Given the description of an element on the screen output the (x, y) to click on. 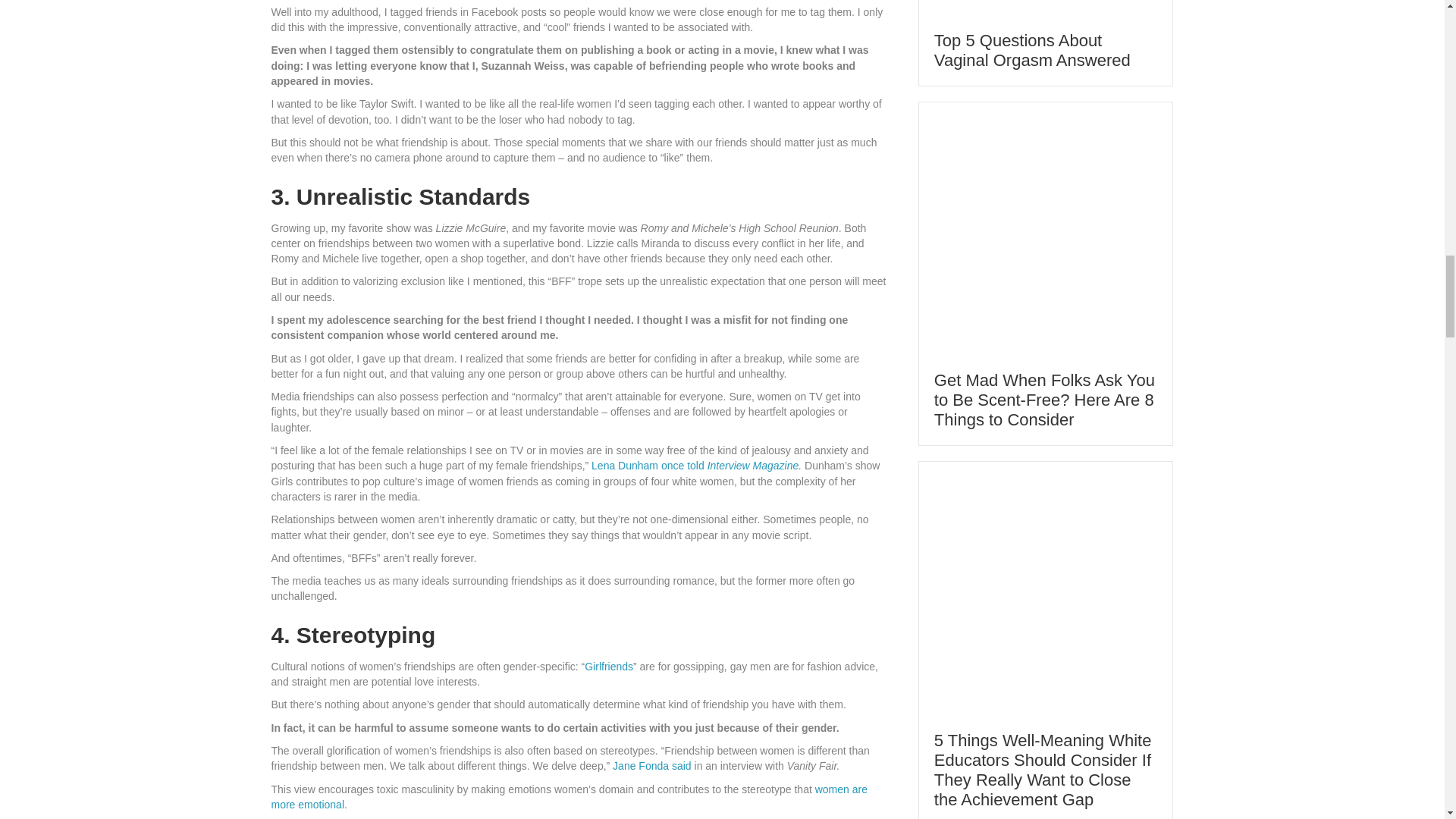
Top 5 Questions About Vaginal Orgasm Answered (1032, 49)
